Given the description of an element on the screen output the (x, y) to click on. 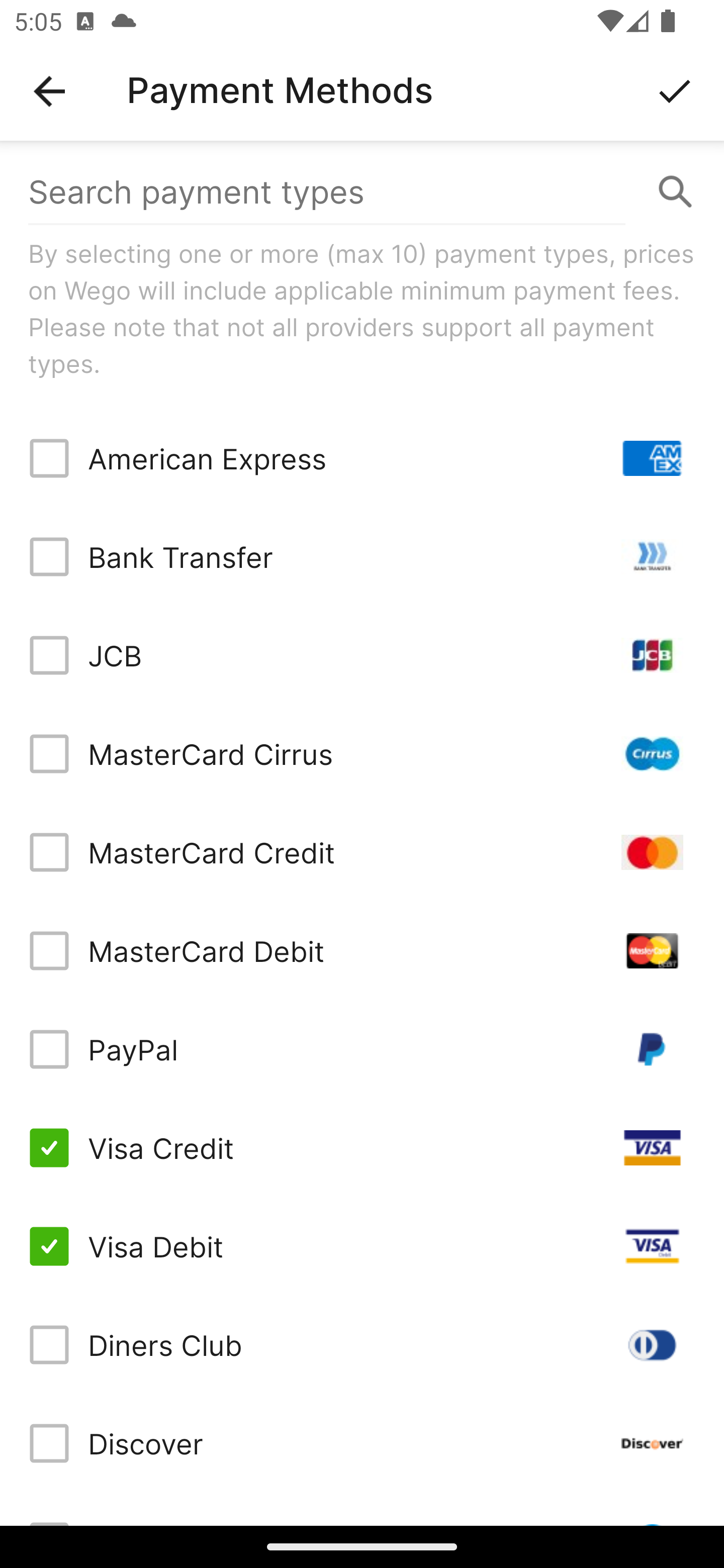
Search payment types  (361, 191)
American Express (362, 458)
Bank Transfer (362, 557)
JCB (362, 655)
MasterCard Cirrus (362, 753)
MasterCard Credit (362, 851)
MasterCard Debit (362, 950)
PayPal (362, 1049)
Visa Credit (362, 1147)
Visa Debit (362, 1245)
Diners Club (362, 1344)
Discover (362, 1442)
